Given the description of an element on the screen output the (x, y) to click on. 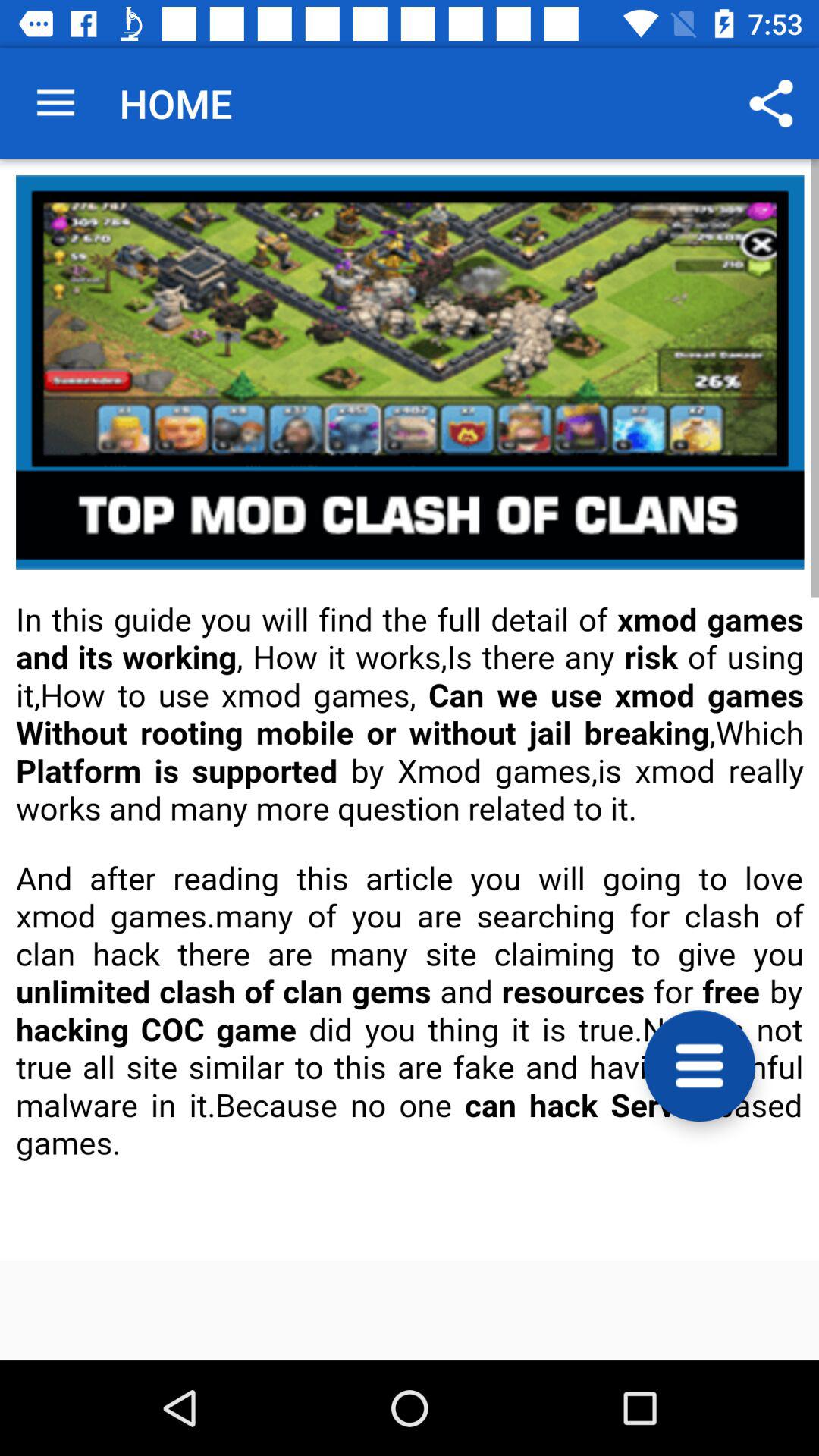
home (409, 709)
